Given the description of an element on the screen output the (x, y) to click on. 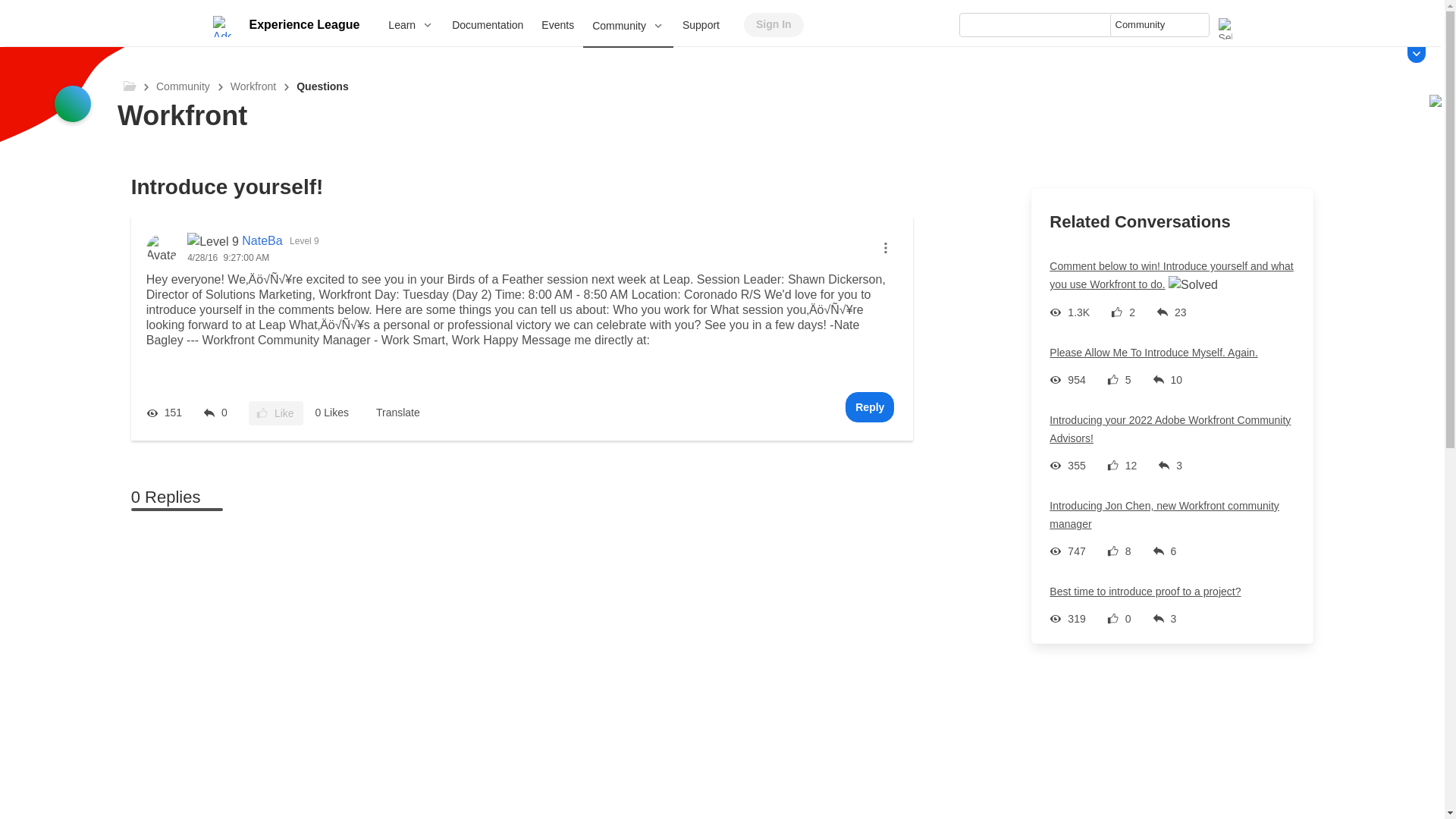
Learn (410, 24)
Events (557, 24)
Experience League (304, 24)
Community (627, 25)
Experience League (304, 24)
Documentation (487, 24)
Learn (410, 24)
